Given the description of an element on the screen output the (x, y) to click on. 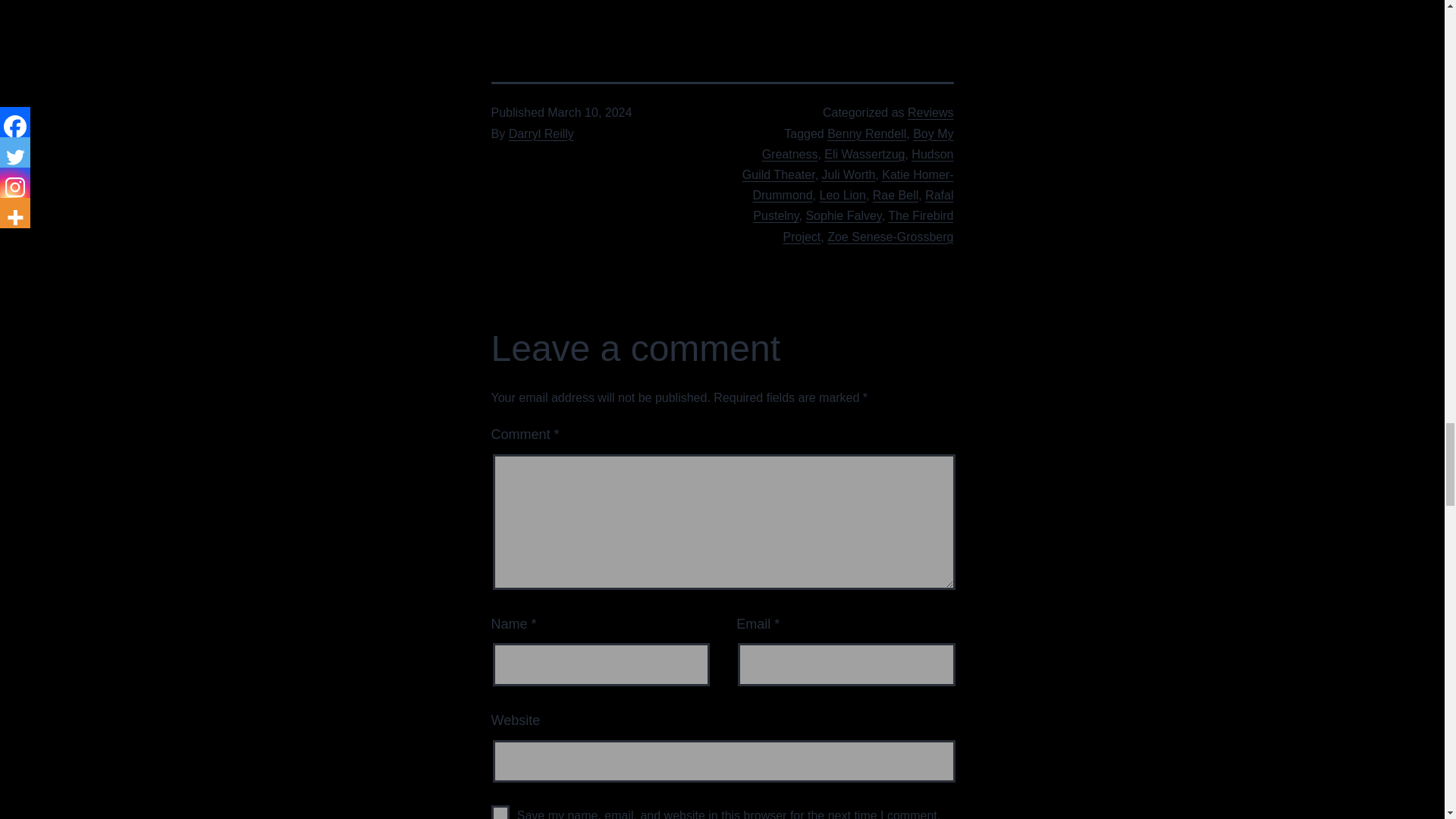
Eli Wassertzug (864, 154)
Hudson Guild Theater (847, 164)
Reviews (930, 112)
Juli Worth (849, 174)
Darryl Reilly (540, 133)
Boy My Greatness (857, 143)
Katie Homer-Drummond (852, 184)
Benny Rendell (866, 133)
yes (500, 812)
Leo Lion (841, 195)
